Given the description of an element on the screen output the (x, y) to click on. 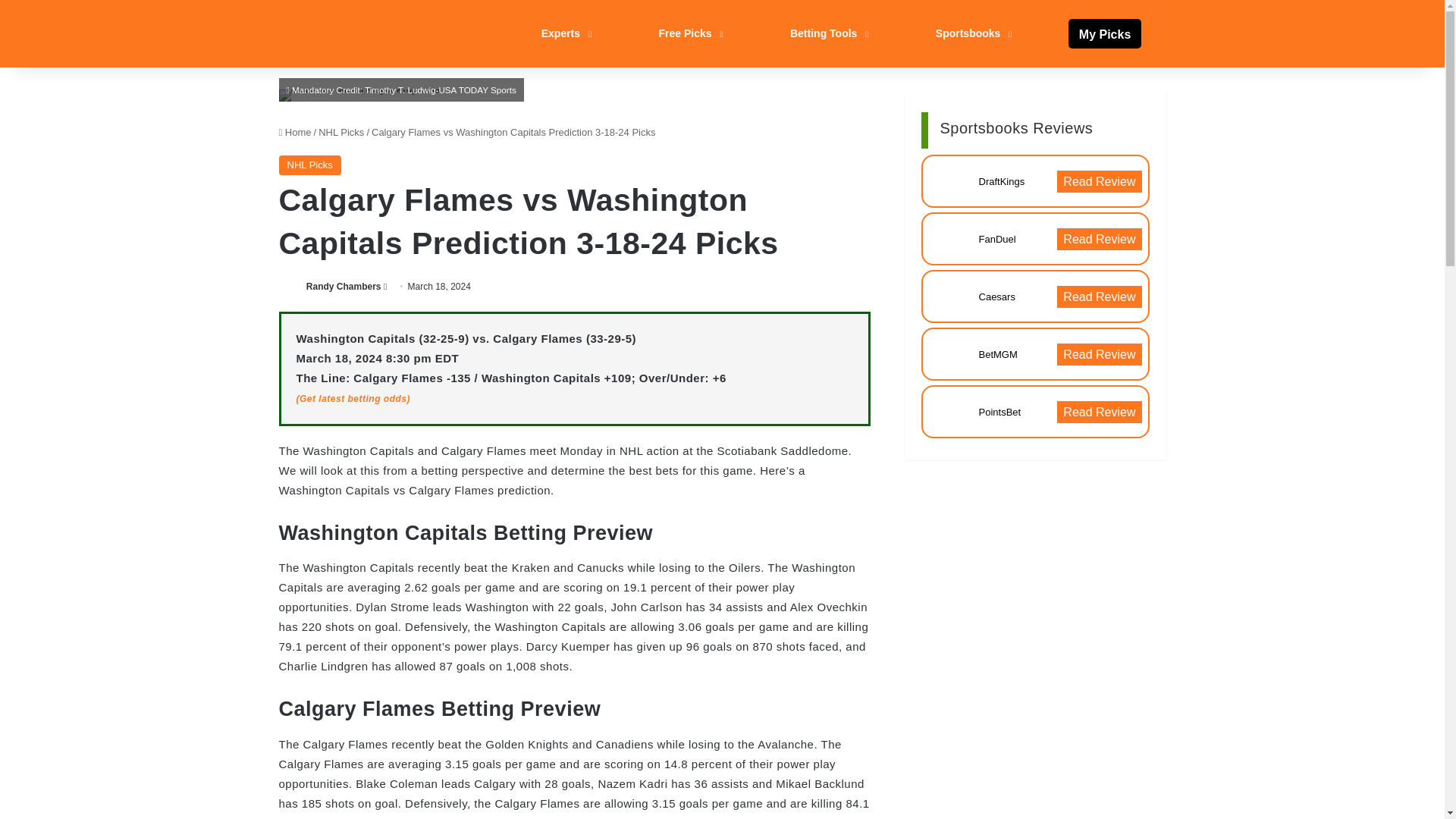
Randy Chambers (343, 286)
Experts (564, 33)
Betting Tools (827, 33)
Free Picks (688, 33)
